Given the description of an element on the screen output the (x, y) to click on. 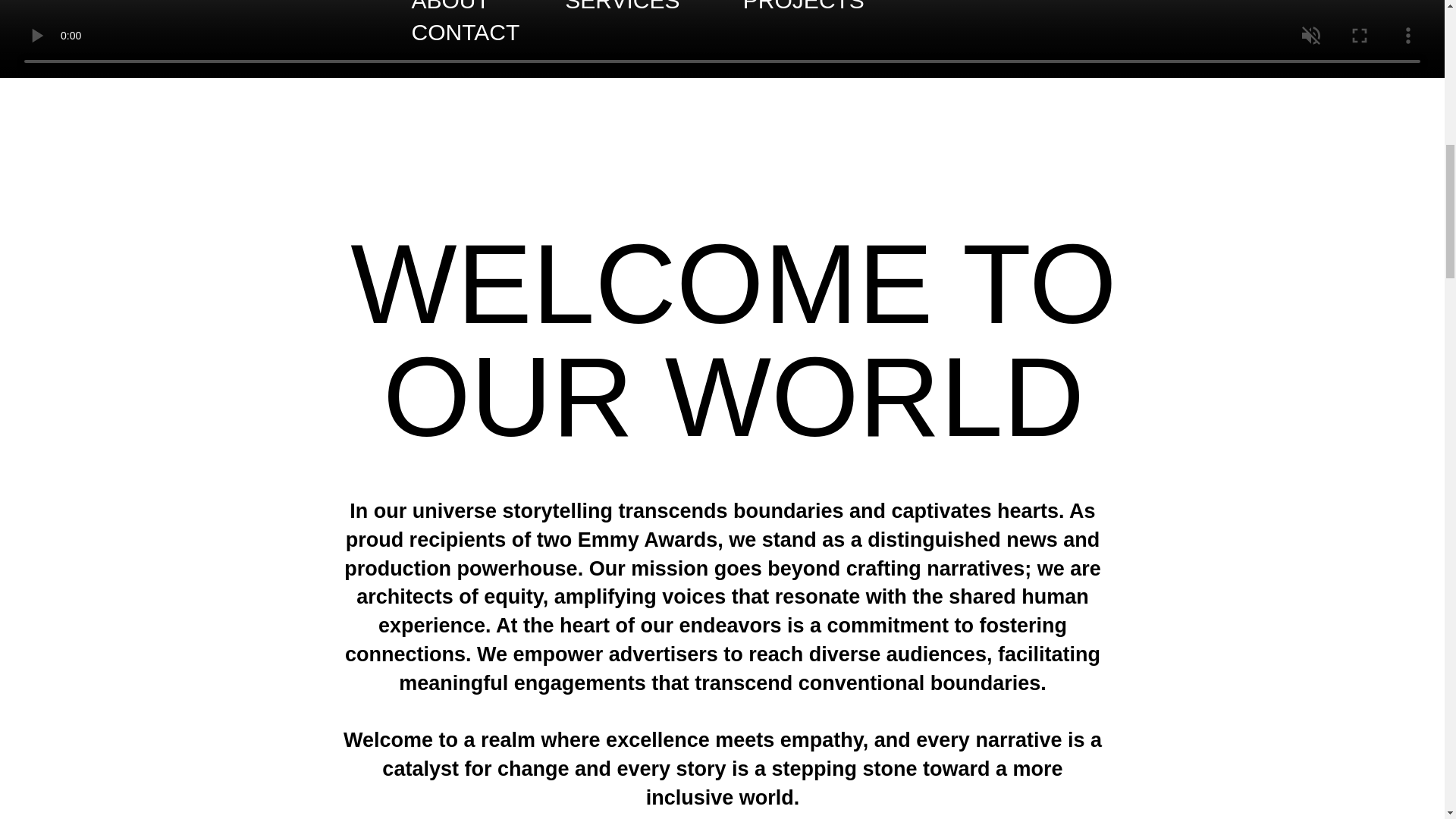
PROJECTS (803, 6)
ABOUT  (452, 6)
SERVICES           (653, 6)
CONTACT (464, 32)
